Given the description of an element on the screen output the (x, y) to click on. 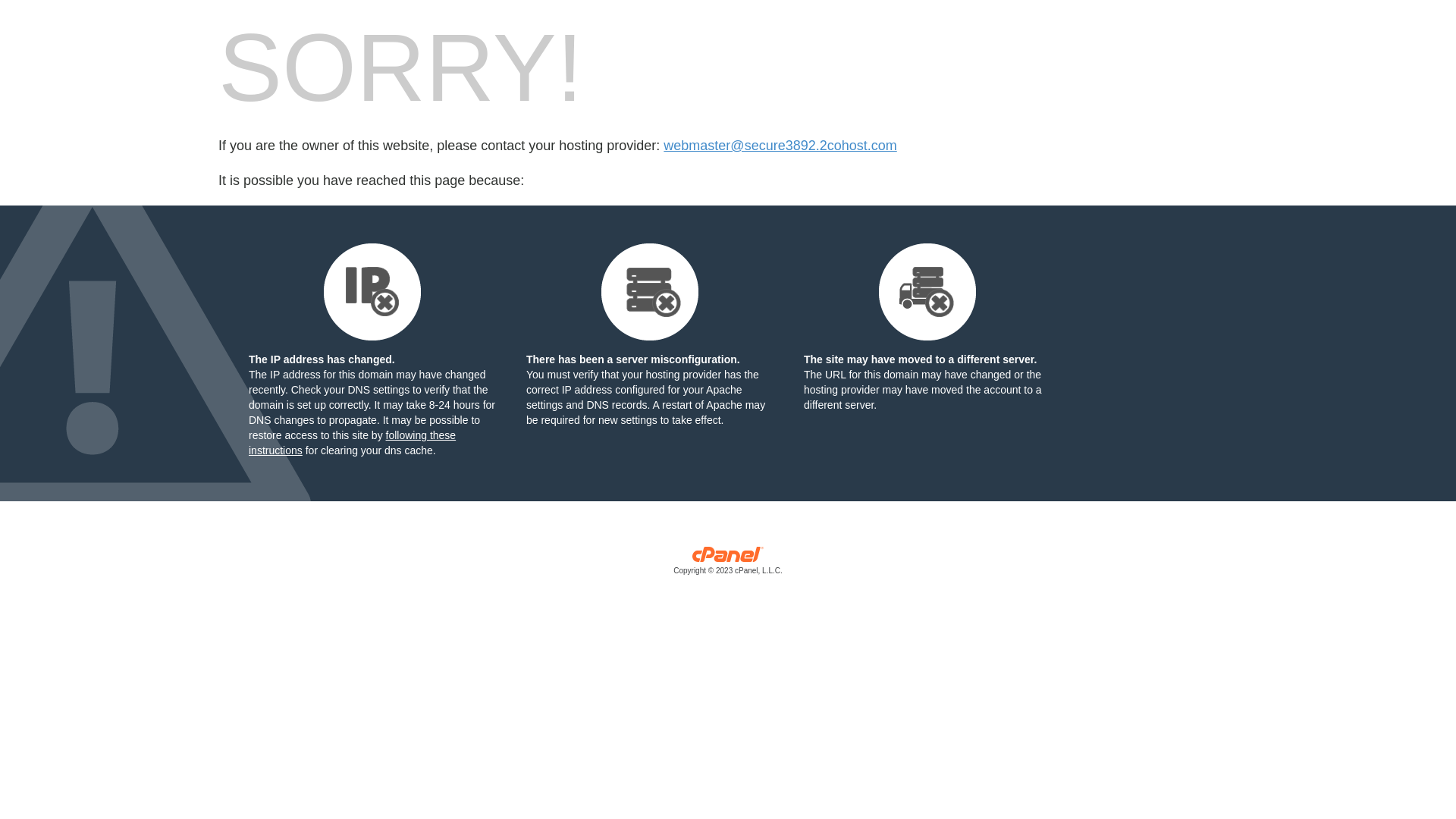
following these instructions Element type: text (351, 442)
webmaster@secure3892.2cohost.com Element type: text (779, 145)
